Given the description of an element on the screen output the (x, y) to click on. 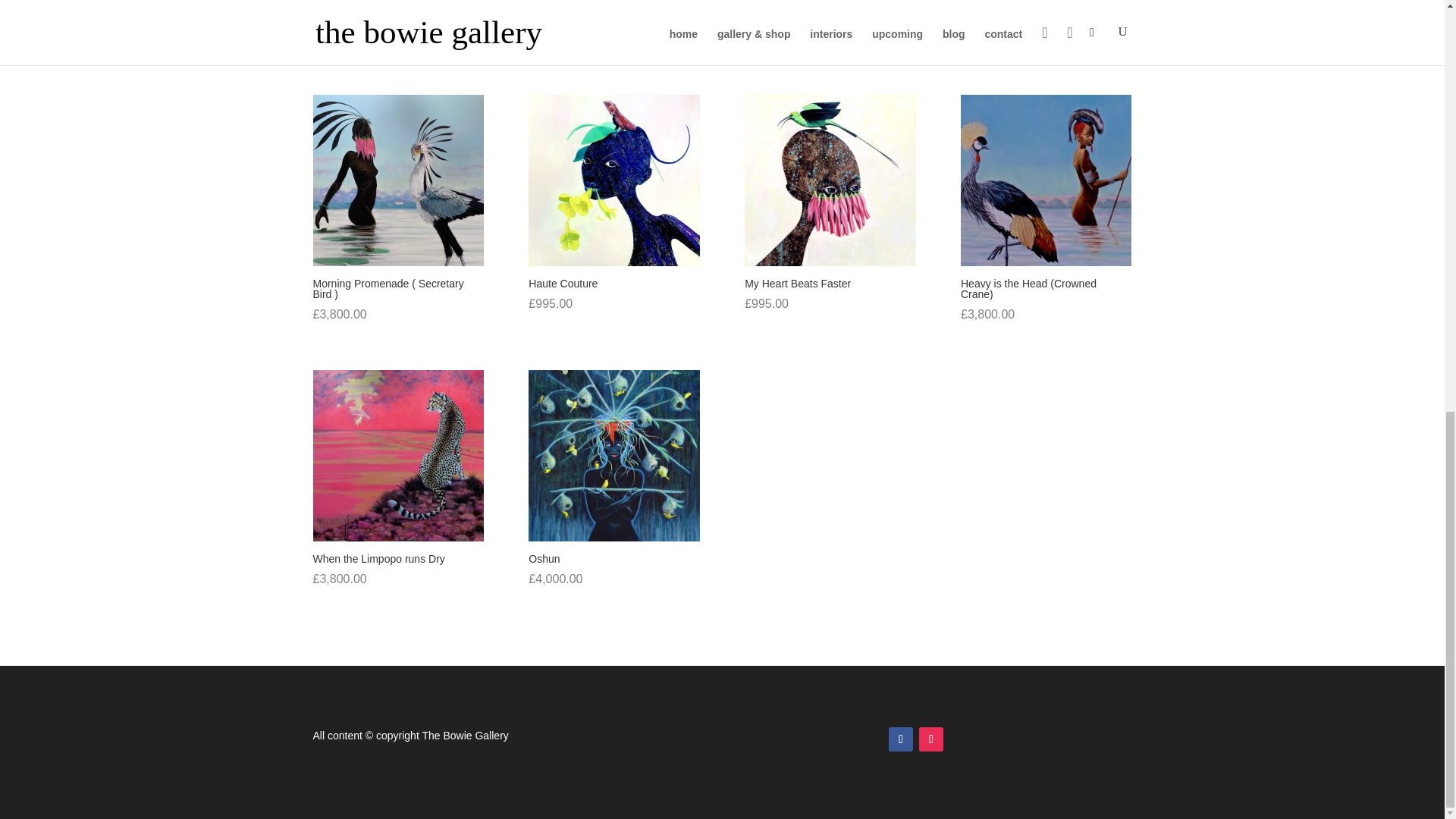
Follow on Instagram (930, 739)
Limited edition print Not One of Us (829, 14)
Follow on Facebook (900, 739)
